Given the description of an element on the screen output the (x, y) to click on. 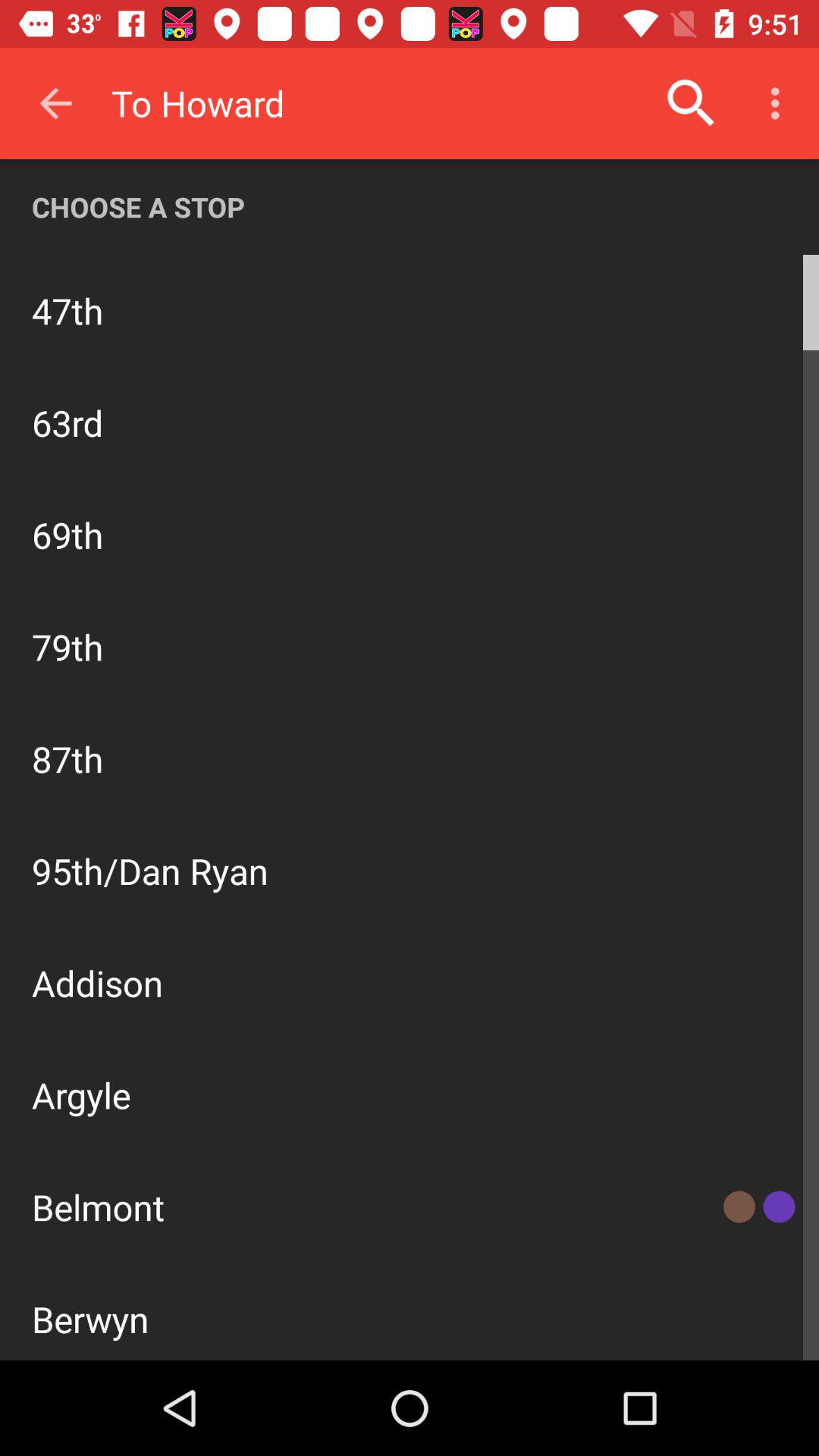
select stop (731, 309)
